Given the description of an element on the screen output the (x, y) to click on. 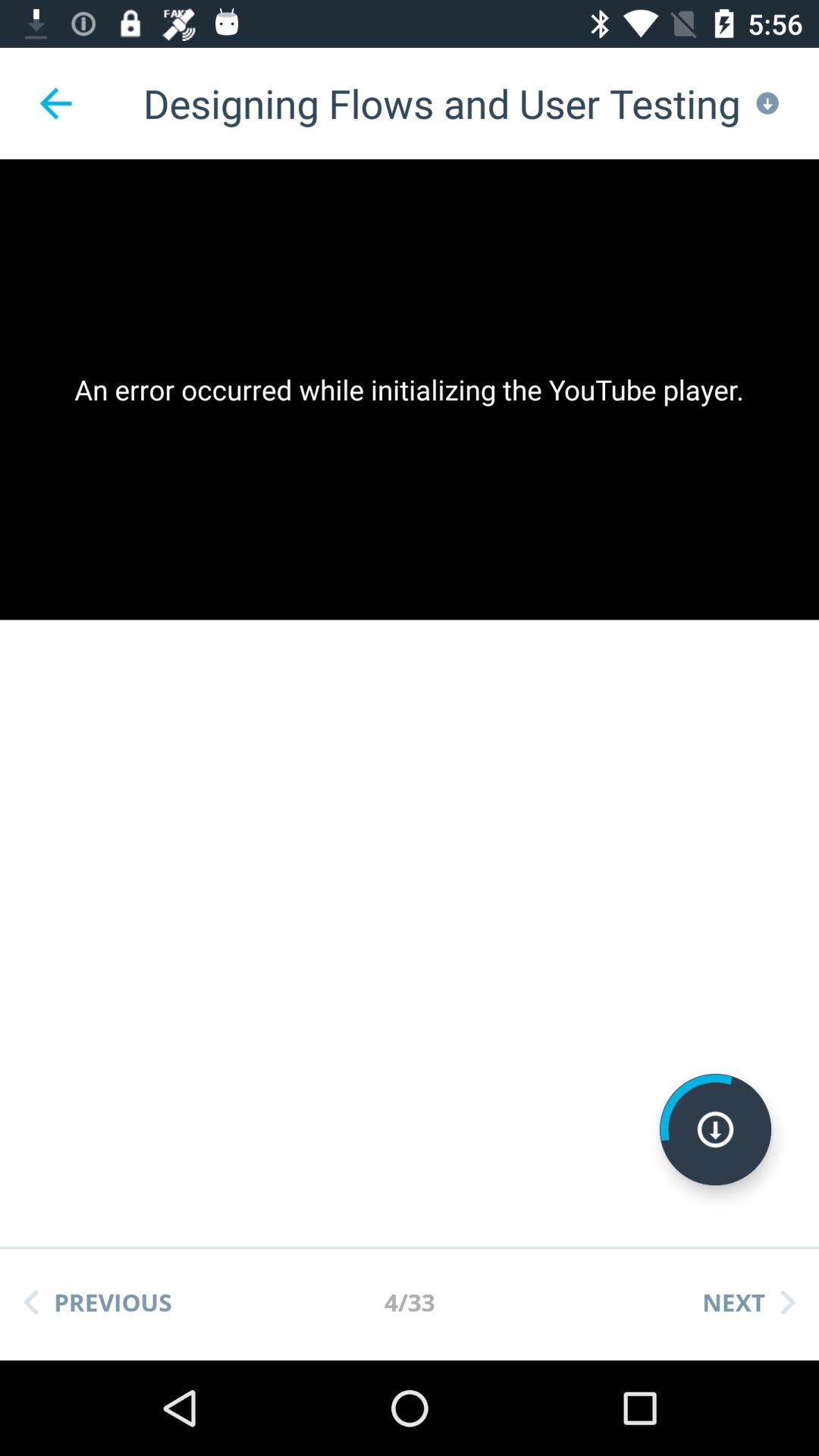
tap item next to the designing flows and item (55, 103)
